Given the description of an element on the screen output the (x, y) to click on. 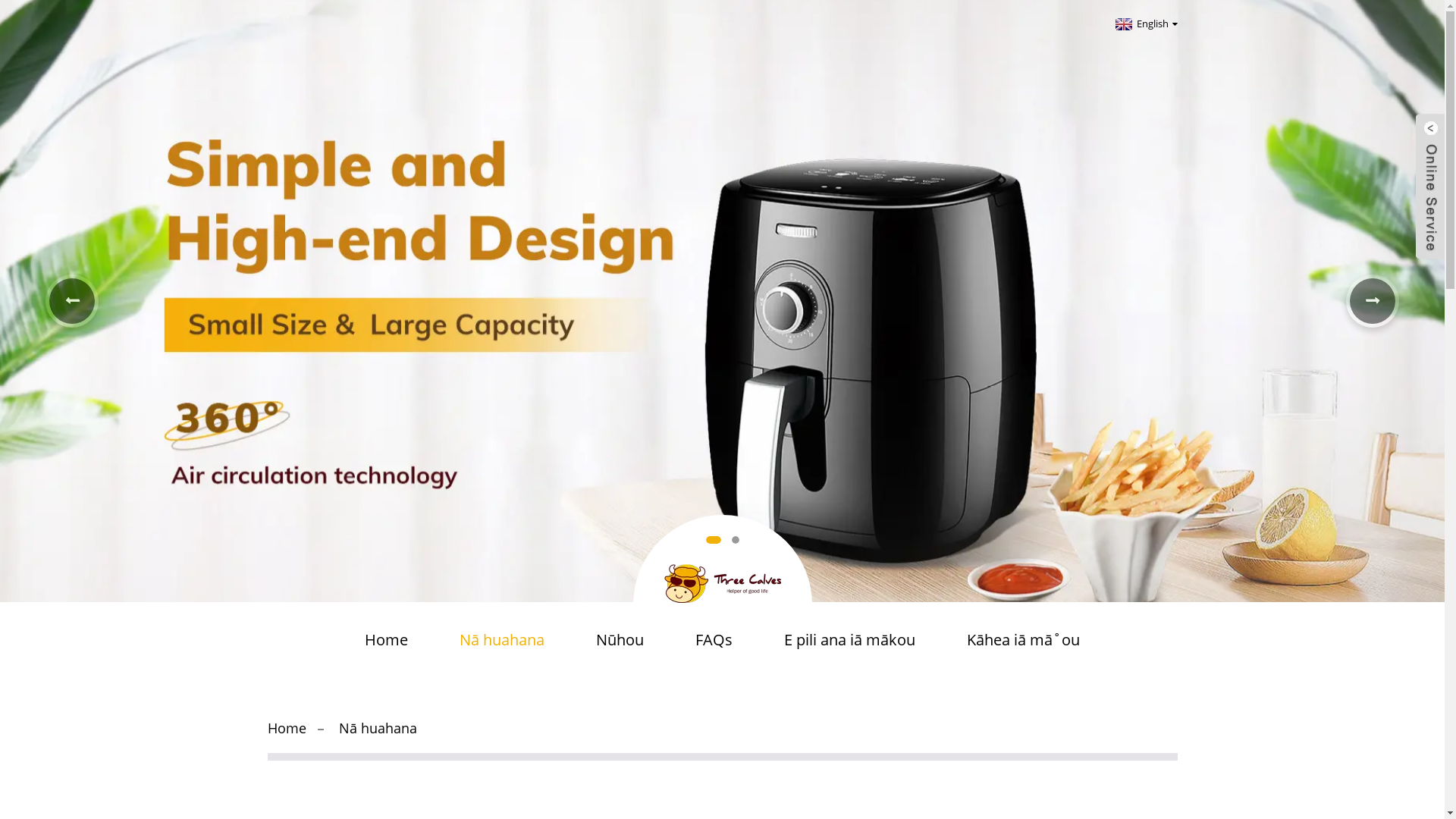
English Element type: text (1144, 23)
Home Element type: text (285, 727)
Home Element type: text (385, 639)
FAQs Element type: text (713, 639)
